Given the description of an element on the screen output the (x, y) to click on. 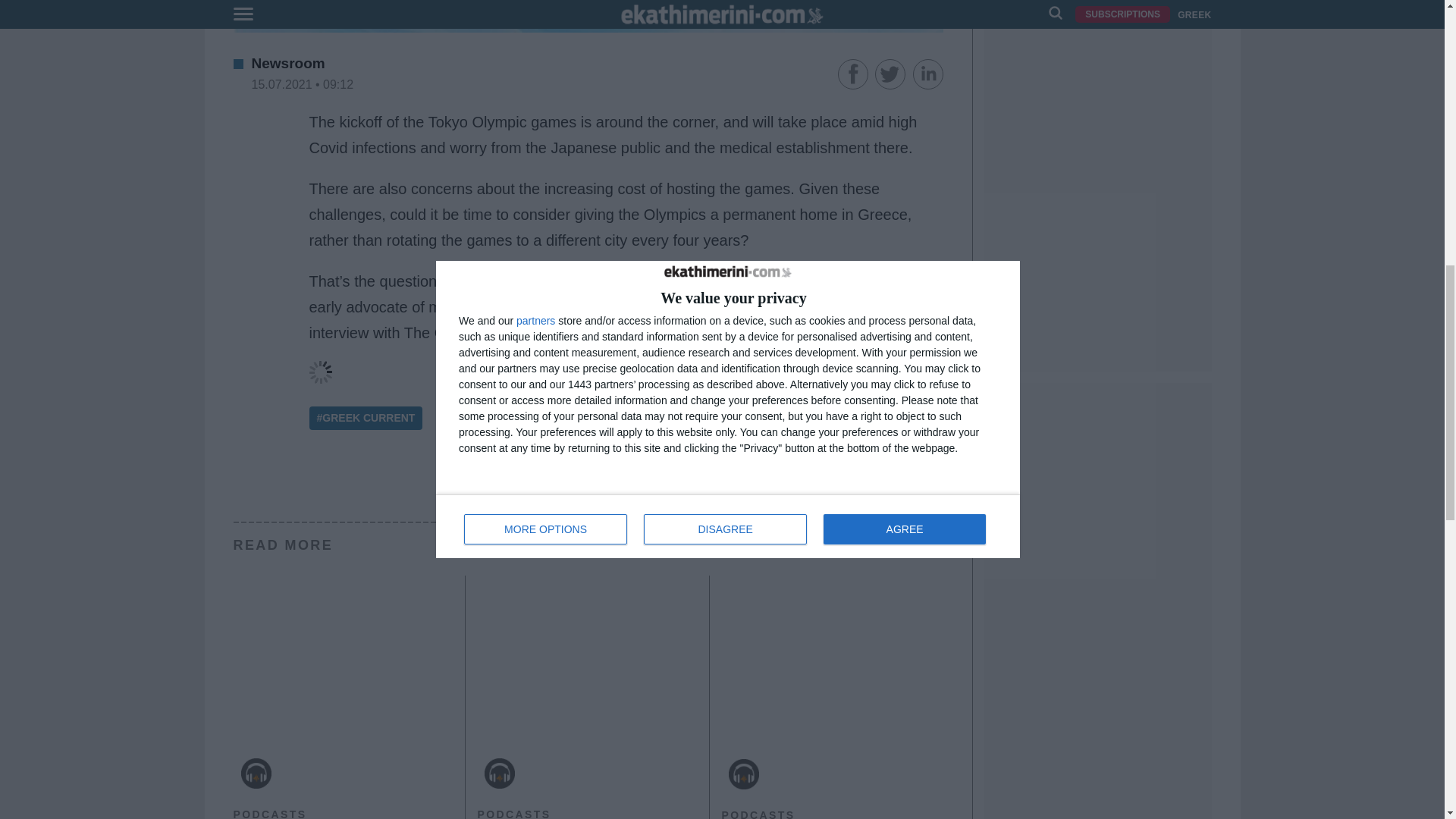
View all posts by Newsroom (287, 63)
